Given the description of an element on the screen output the (x, y) to click on. 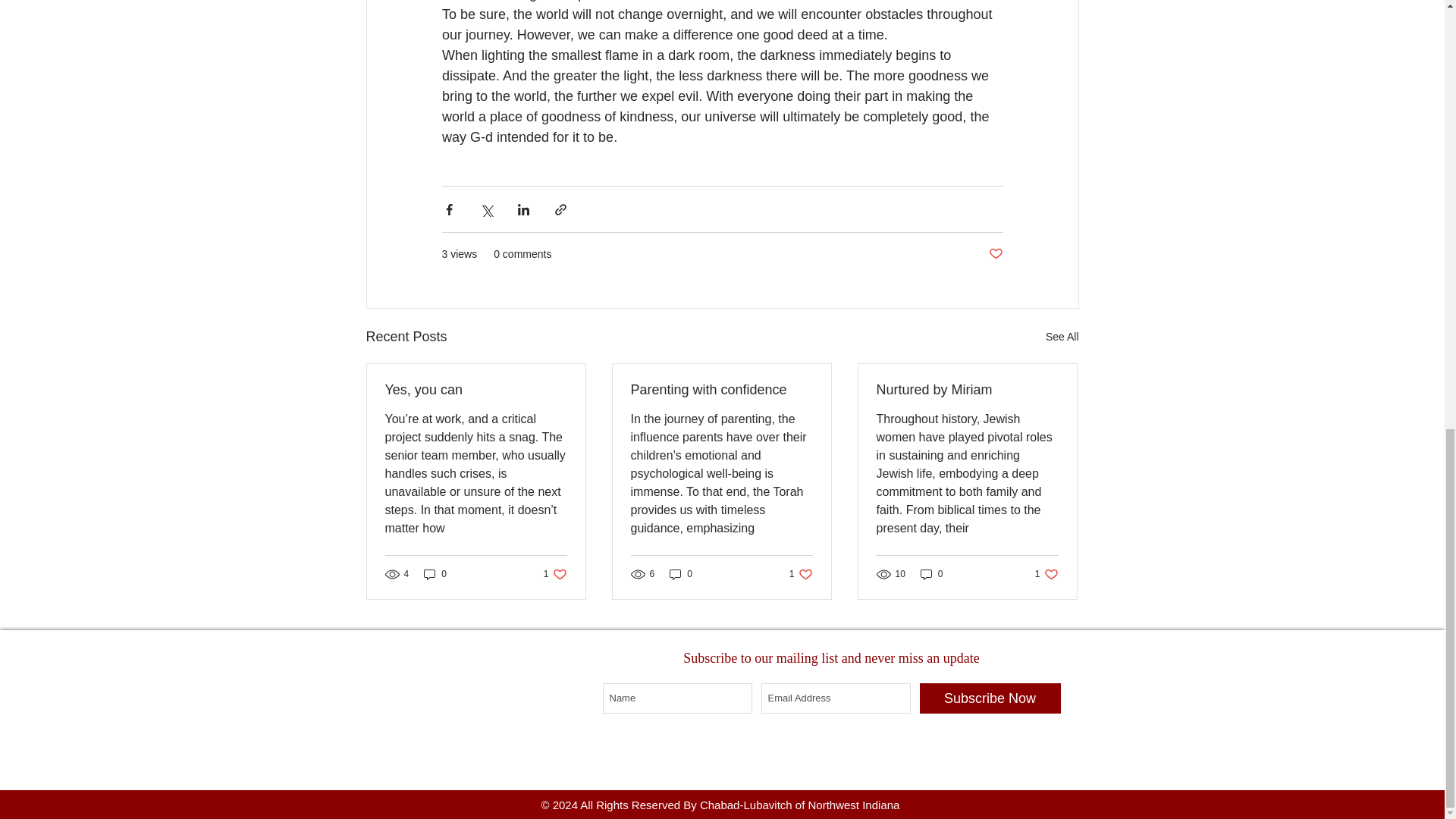
Nurtured by Miriam (967, 390)
Post not marked as liked (995, 254)
See All (555, 574)
0 (1061, 336)
0 (931, 574)
Subscribe Now (1046, 574)
0 (435, 574)
Parenting with confidence (988, 698)
Yes, you can (800, 574)
